Given the description of an element on the screen output the (x, y) to click on. 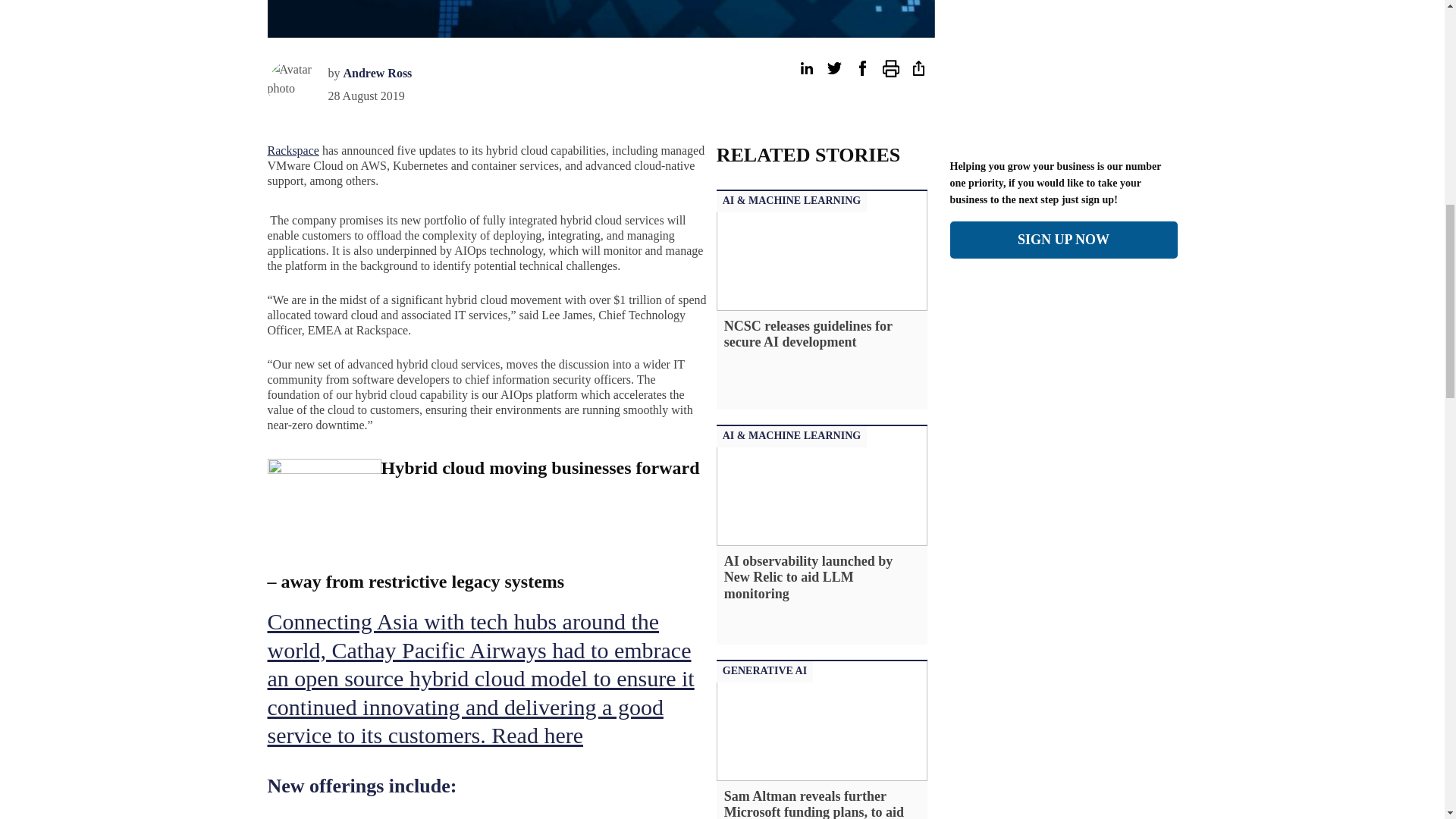
Share on LinkedIn (805, 67)
Share on Facebook (861, 67)
Tweet this article (835, 67)
Print this article (890, 67)
